Given the description of an element on the screen output the (x, y) to click on. 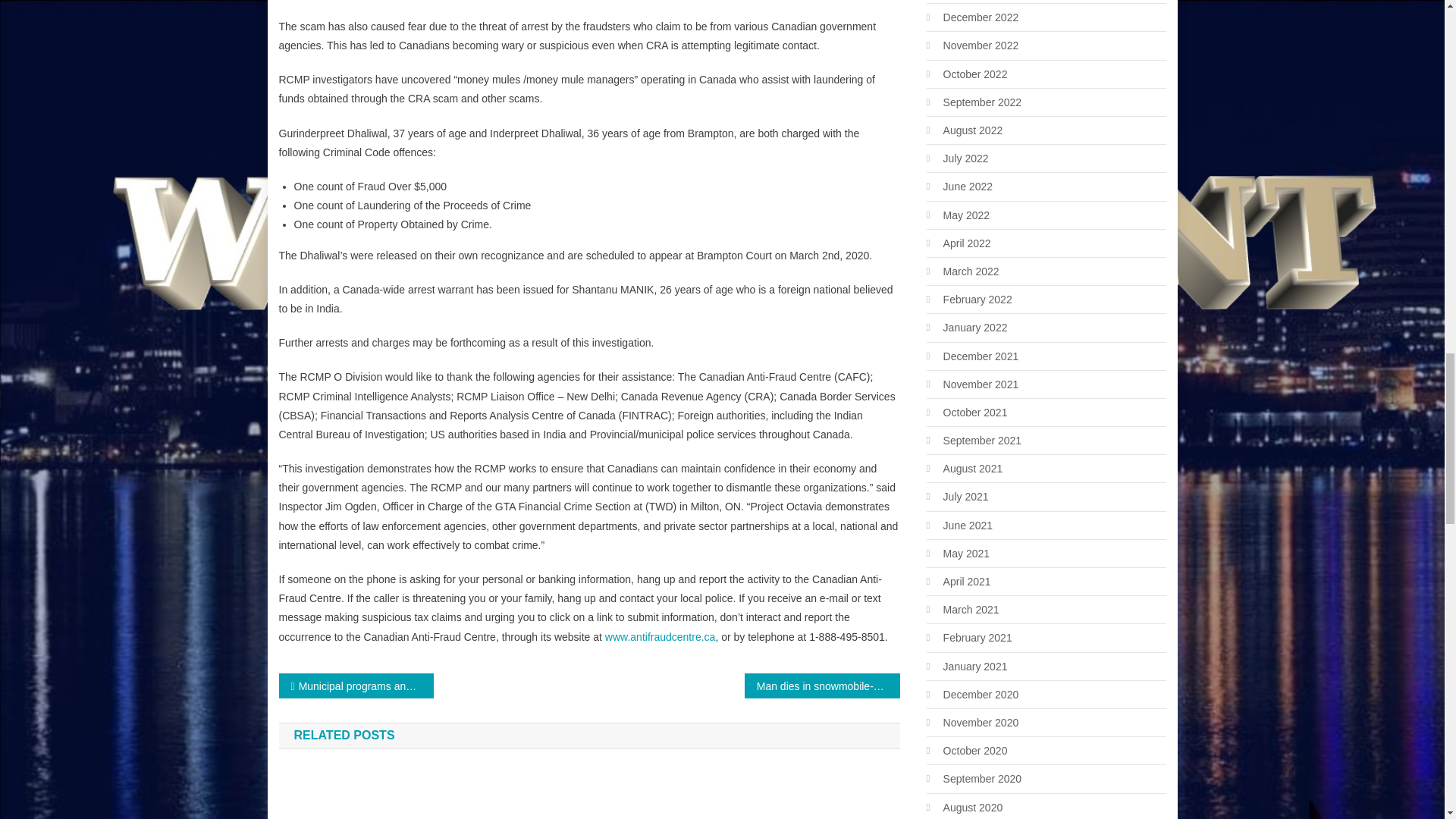
www.antifraudcentre.ca (660, 636)
Man dies in snowmobile-pickup truck collision (821, 685)
